Given the description of an element on the screen output the (x, y) to click on. 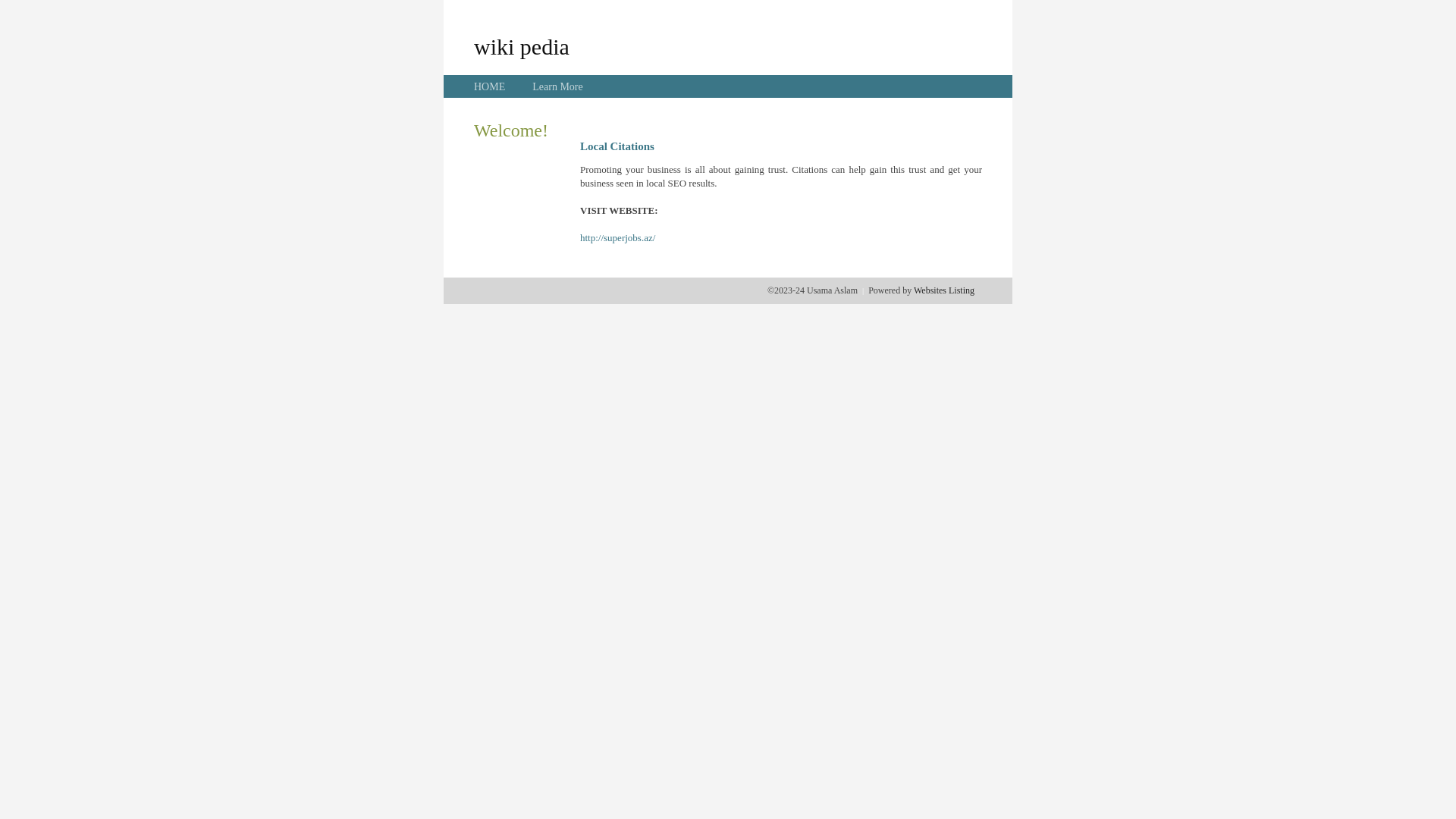
http://superjobs.az/ Element type: text (617, 237)
wiki pedia Element type: text (521, 46)
HOME Element type: text (489, 86)
Learn More Element type: text (557, 86)
Websites Listing Element type: text (943, 290)
